Given the description of an element on the screen output the (x, y) to click on. 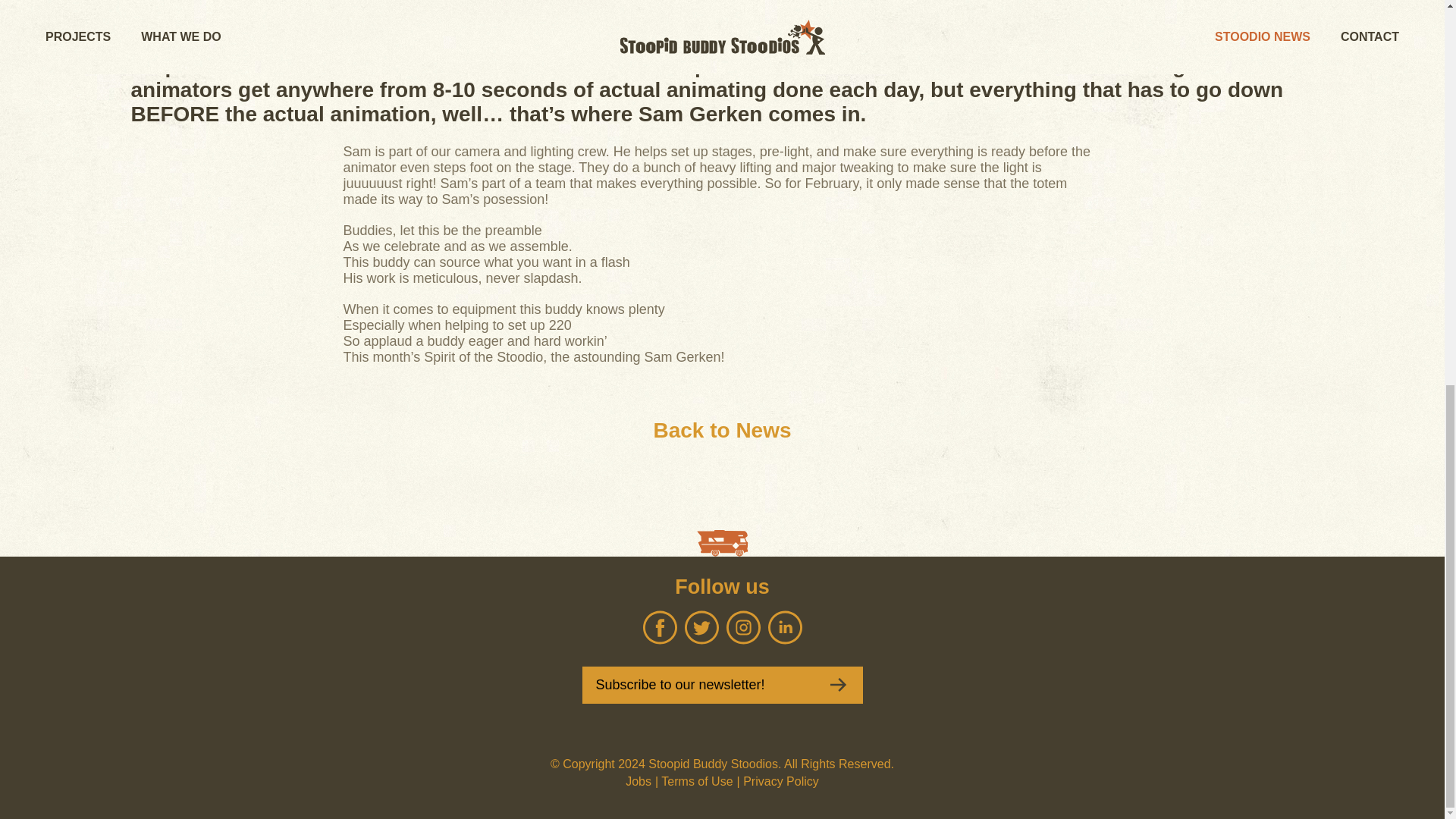
Jobs (638, 780)
Back to News (721, 430)
Terms of Use (696, 780)
Privacy Policy (780, 780)
